Given the description of an element on the screen output the (x, y) to click on. 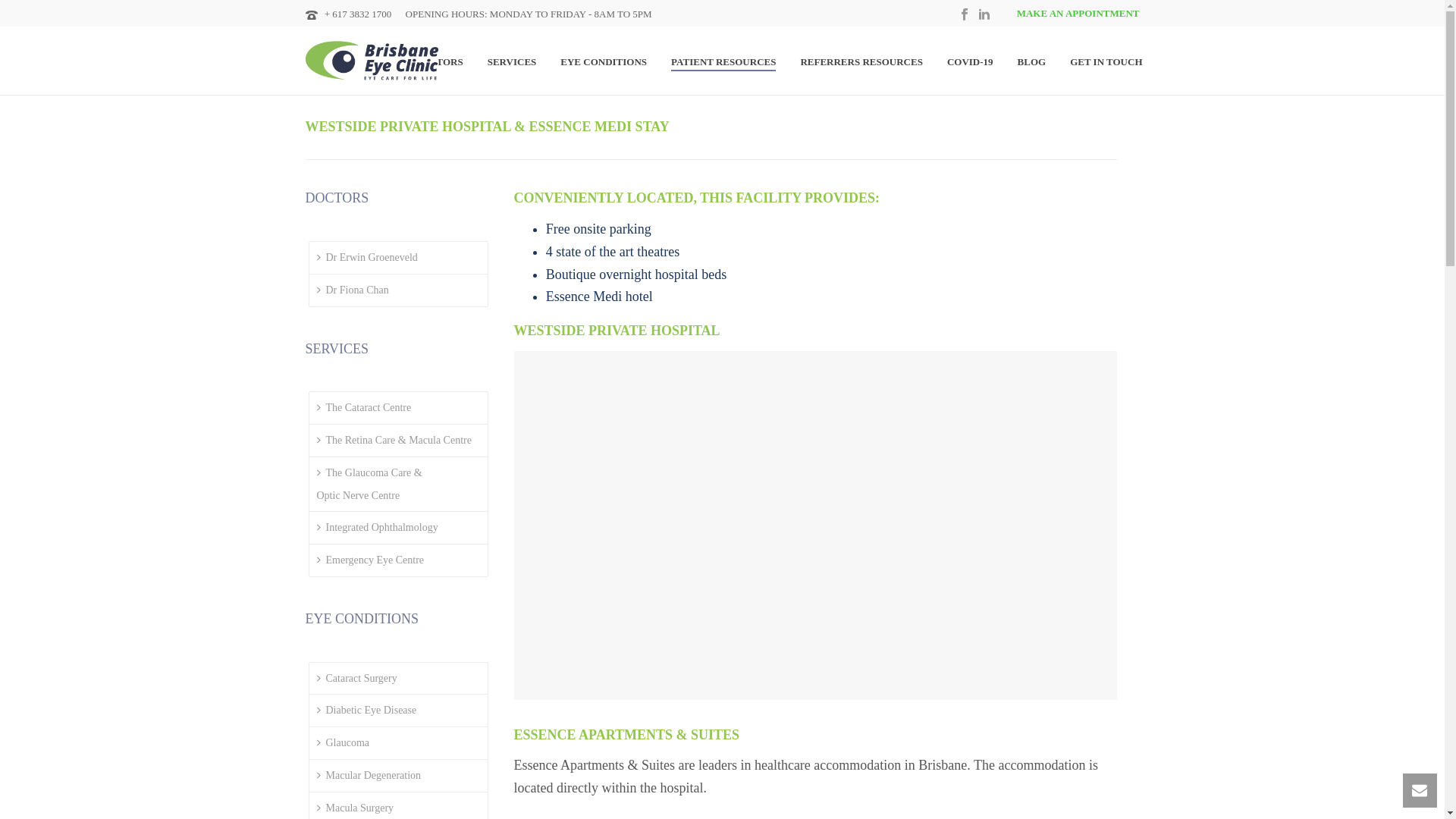
PATIENT RESOURCES (723, 62)
EYE CONDITIONS (603, 62)
REFERRERS RESOURCES (860, 62)
DOCTORS (439, 62)
MAKE AN APPOINTMENT (1067, 13)
BLOG (1032, 62)
REFERRERS RESOURCES (860, 62)
GET IN TOUCH (1106, 62)
COVID-19 (970, 62)
EYE CONDITIONS (603, 62)
COVID-19 (970, 62)
GET IN TOUCH (1106, 62)
PATIENT RESOURCES (723, 62)
DOCTORS (439, 62)
Eye Care For Life (371, 59)
